Given the description of an element on the screen output the (x, y) to click on. 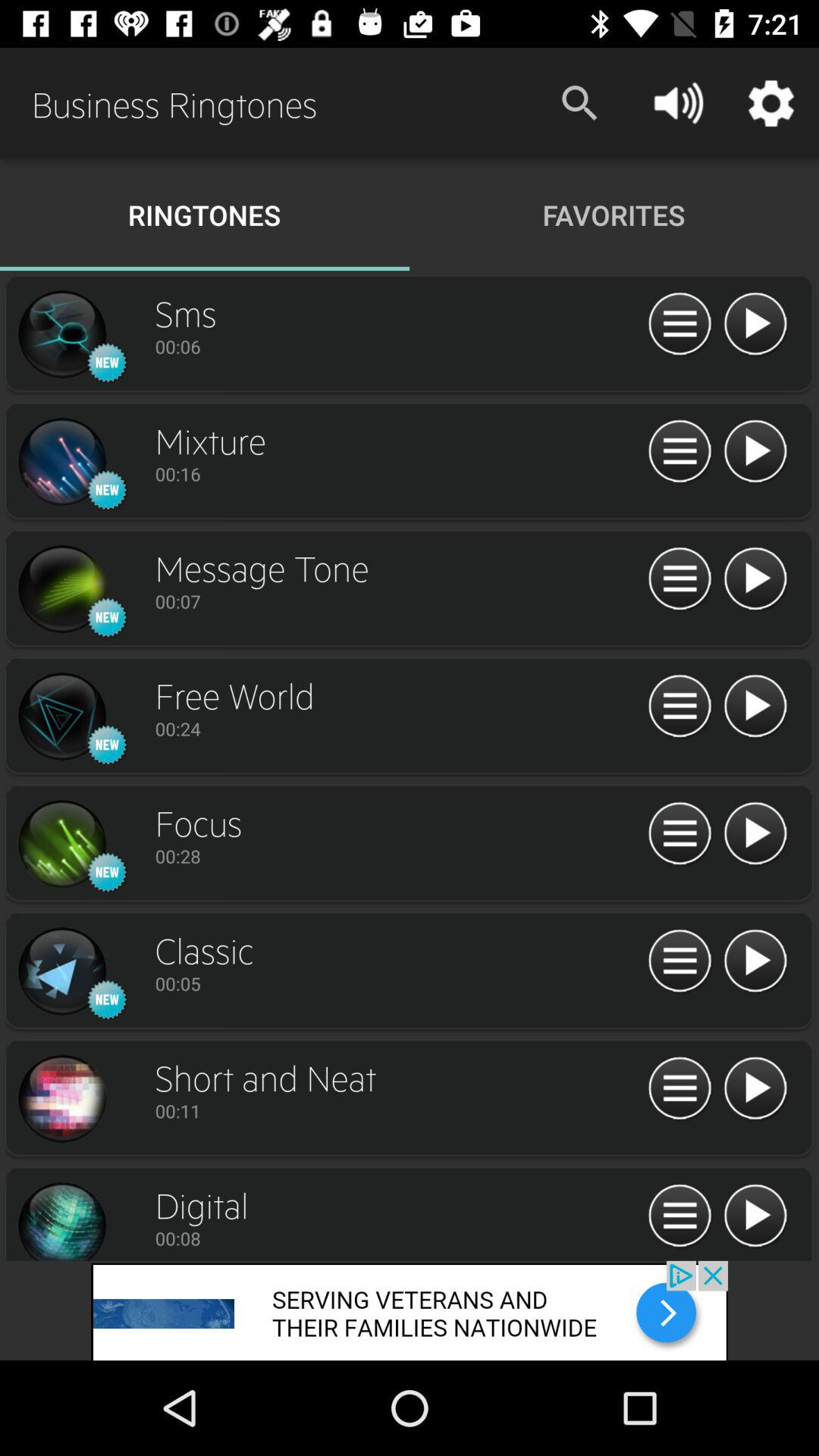
select ringtone (61, 716)
